Given the description of an element on the screen output the (x, y) to click on. 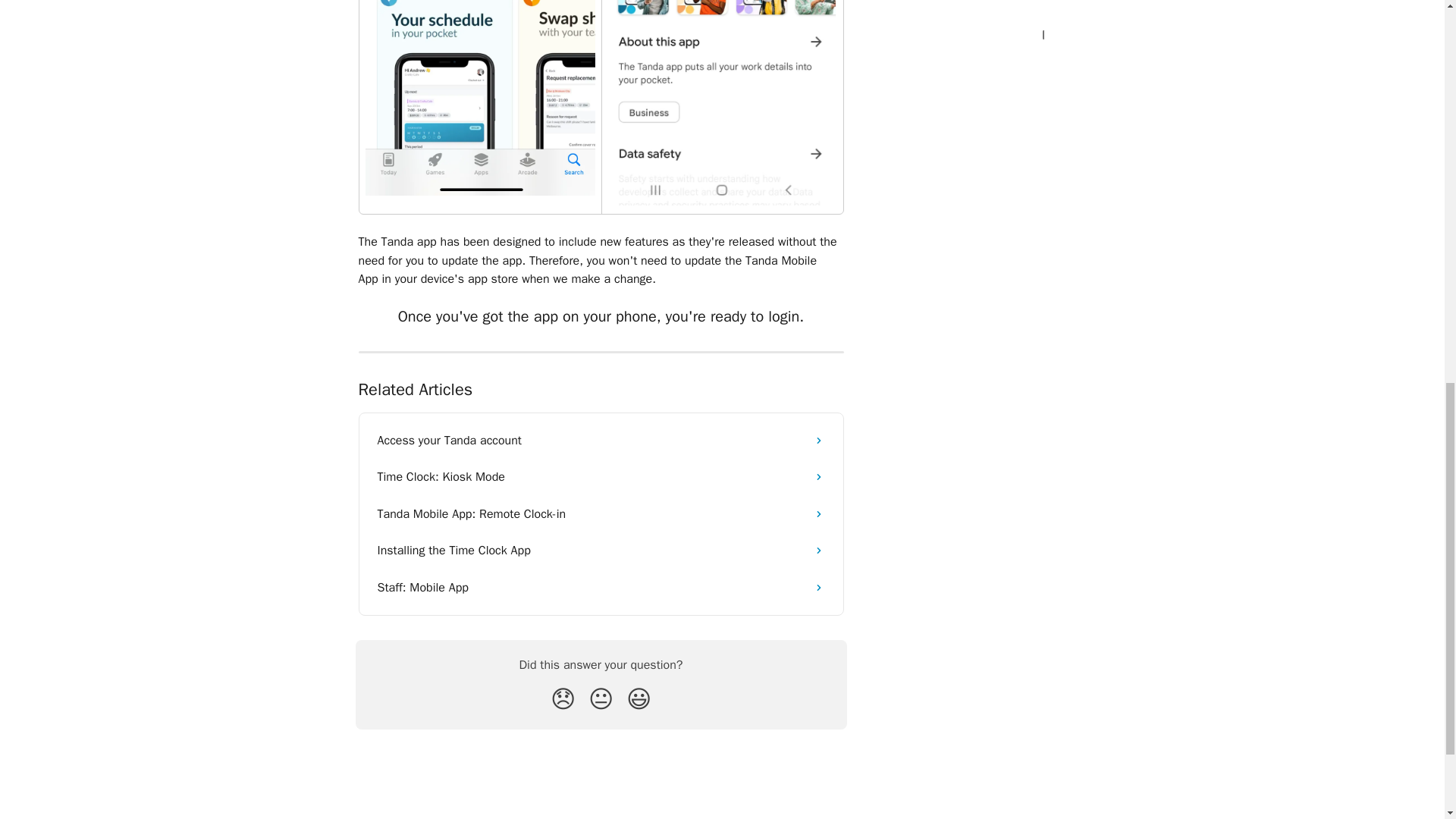
Staff: Mobile App (601, 587)
Installing the Time Clock App (601, 550)
Access your Tanda account (601, 440)
Time Clock: Kiosk Mode (601, 476)
Tanda Mobile App: Remote Clock-in (601, 514)
